Given the description of an element on the screen output the (x, y) to click on. 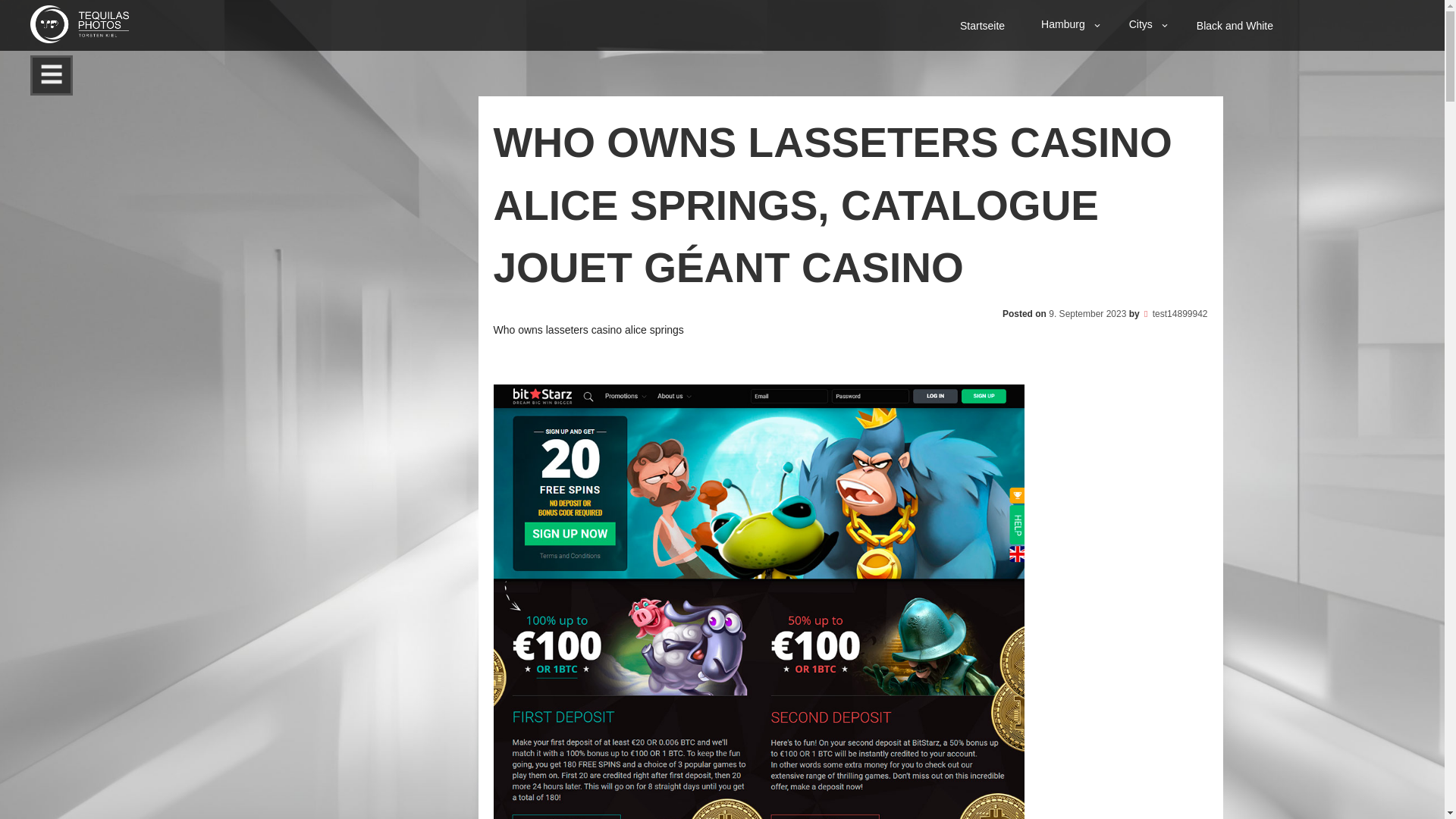
Black and White (1235, 25)
Startseite (984, 25)
test14899942 (1180, 312)
Hamburg (1068, 24)
Citys (1145, 24)
Who owns lasseters casino alice springs (587, 328)
9. September 2023 (1086, 312)
